Given the description of an element on the screen output the (x, y) to click on. 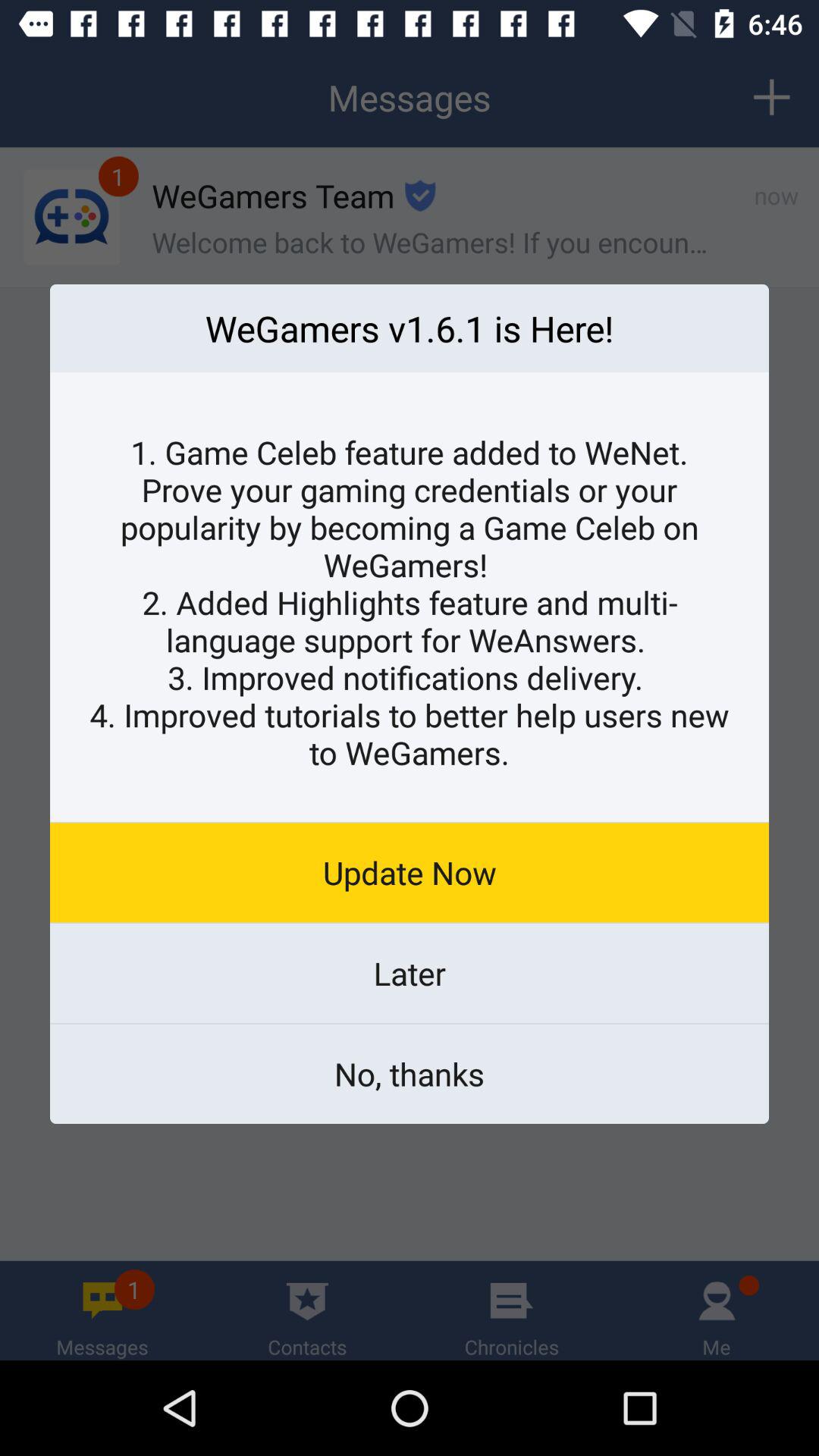
press the update now (409, 872)
